Given the description of an element on the screen output the (x, y) to click on. 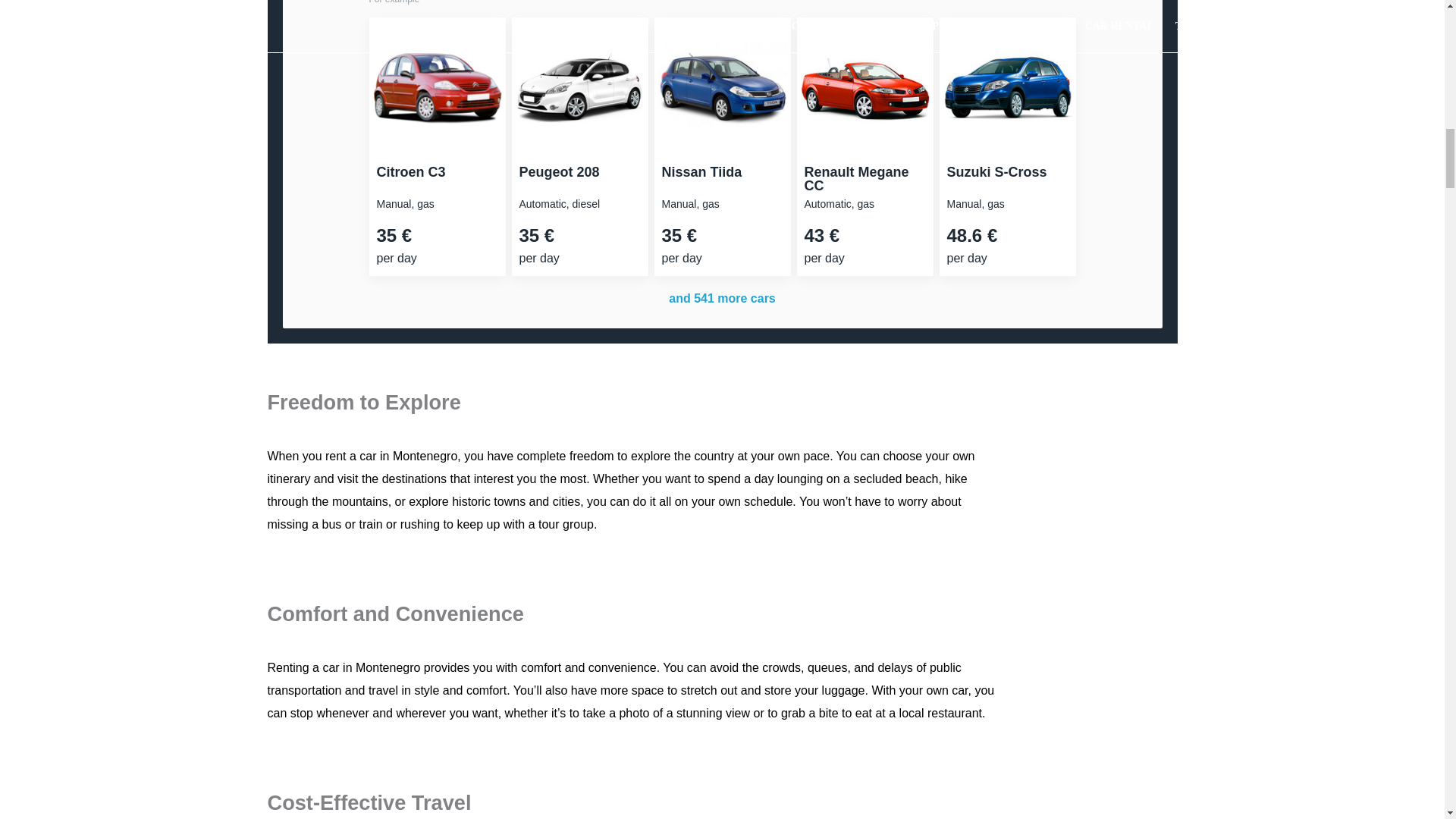
and 541 more cars (722, 297)
